Given the description of an element on the screen output the (x, y) to click on. 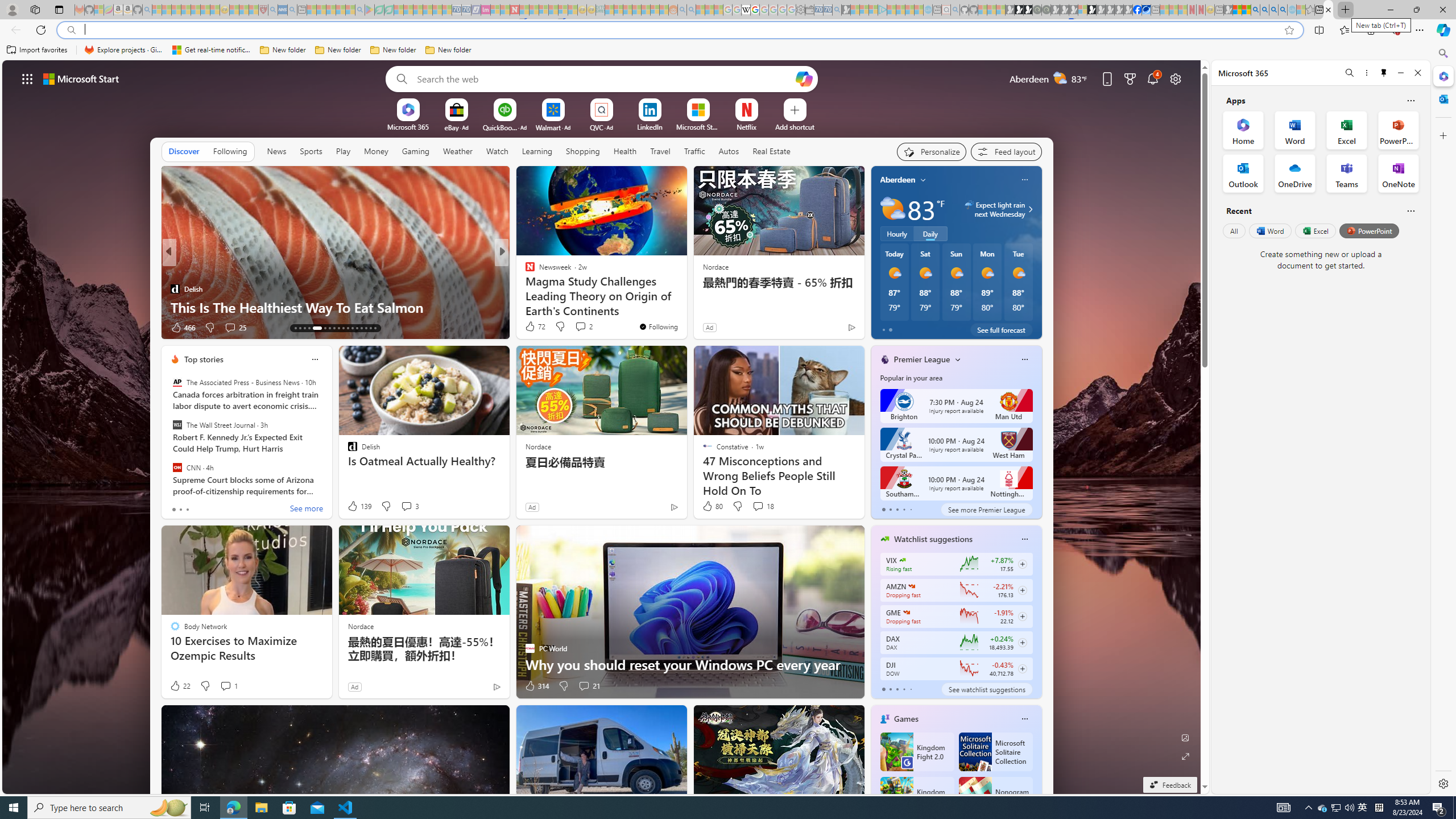
Settings - Sleeping (799, 9)
Close Customize pane (1442, 135)
View comments 4 Comment (576, 327)
Nordace | Facebook (1137, 9)
Utah sues federal government - Search - Sleeping (690, 9)
View comments 18 Comment (757, 505)
Kitchen & Kennel (524, 270)
More interests (957, 359)
22 Like (179, 685)
Open Copilot (803, 78)
Terms of Use Agreement - Sleeping (378, 9)
CBOE Market Volatility Index (901, 559)
